Given the description of an element on the screen output the (x, y) to click on. 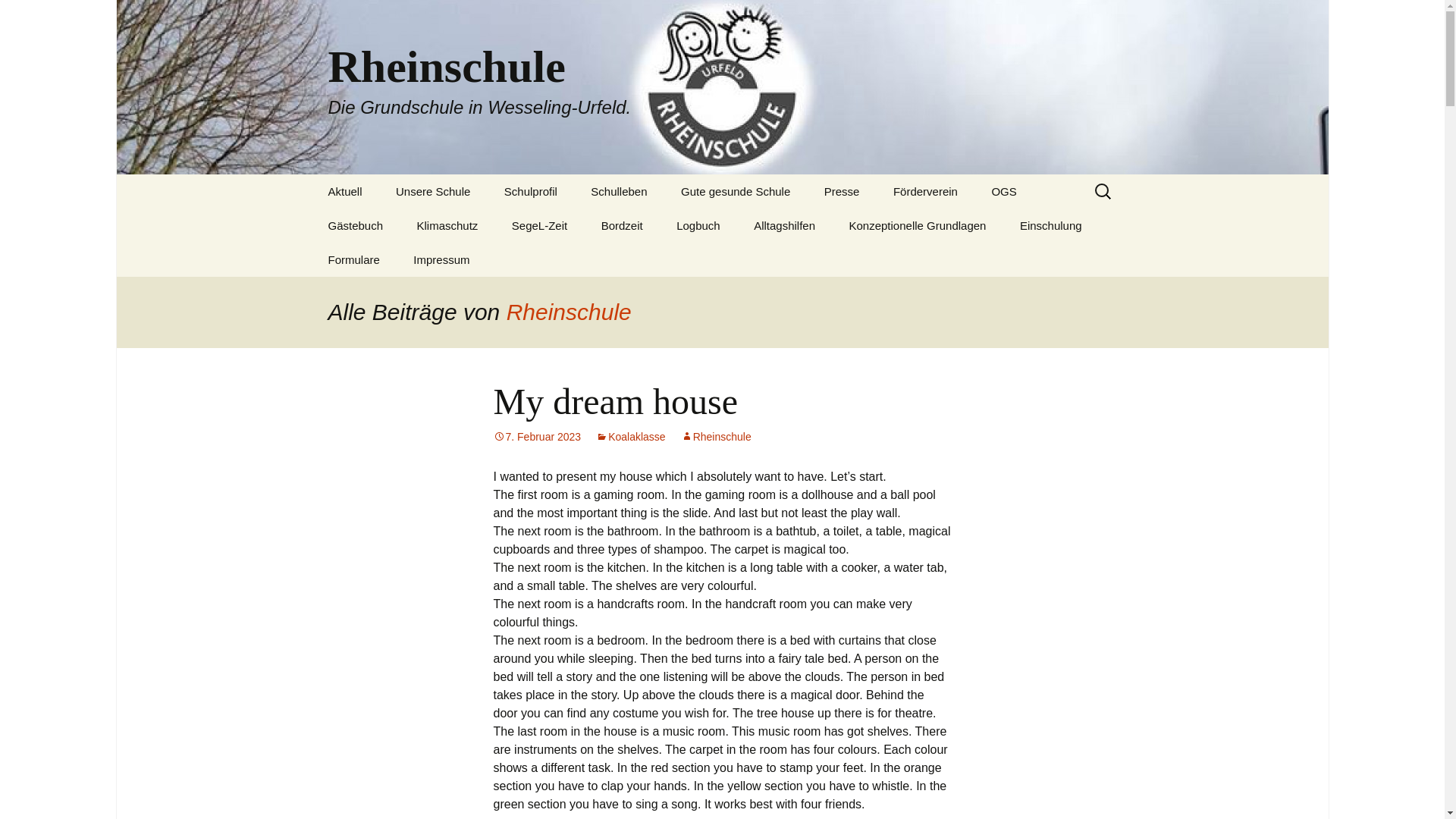
Unterrichtszeiten (456, 225)
Permalink zu My dream house (432, 191)
Zum Inhalt springen (536, 436)
Page 1 (345, 191)
